Given the description of an element on the screen output the (x, y) to click on. 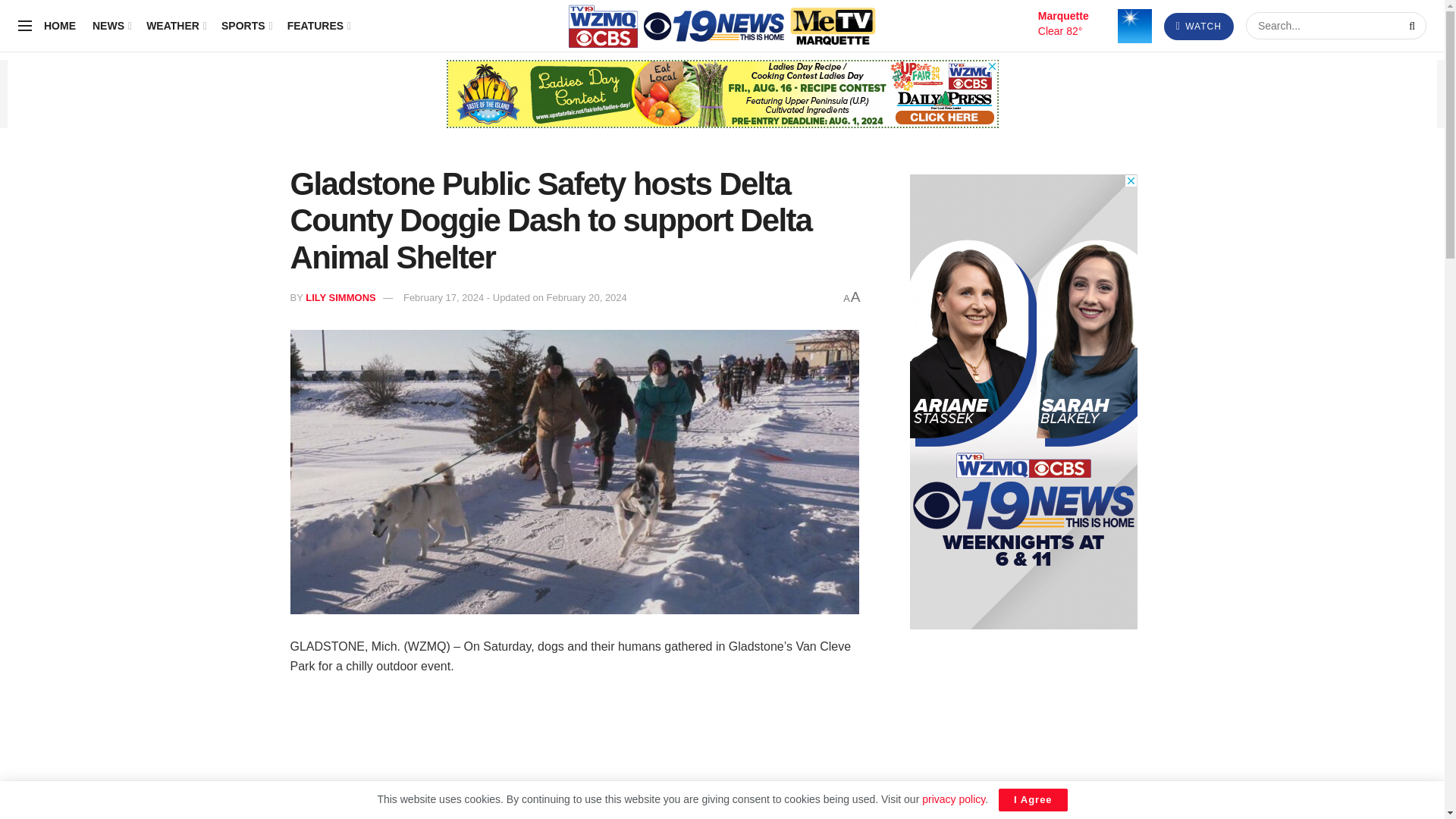
WEATHER (176, 25)
3rd party ad content (721, 93)
WATCH (1198, 26)
FEATURES (317, 25)
SPORTS (245, 25)
